Given the description of an element on the screen output the (x, y) to click on. 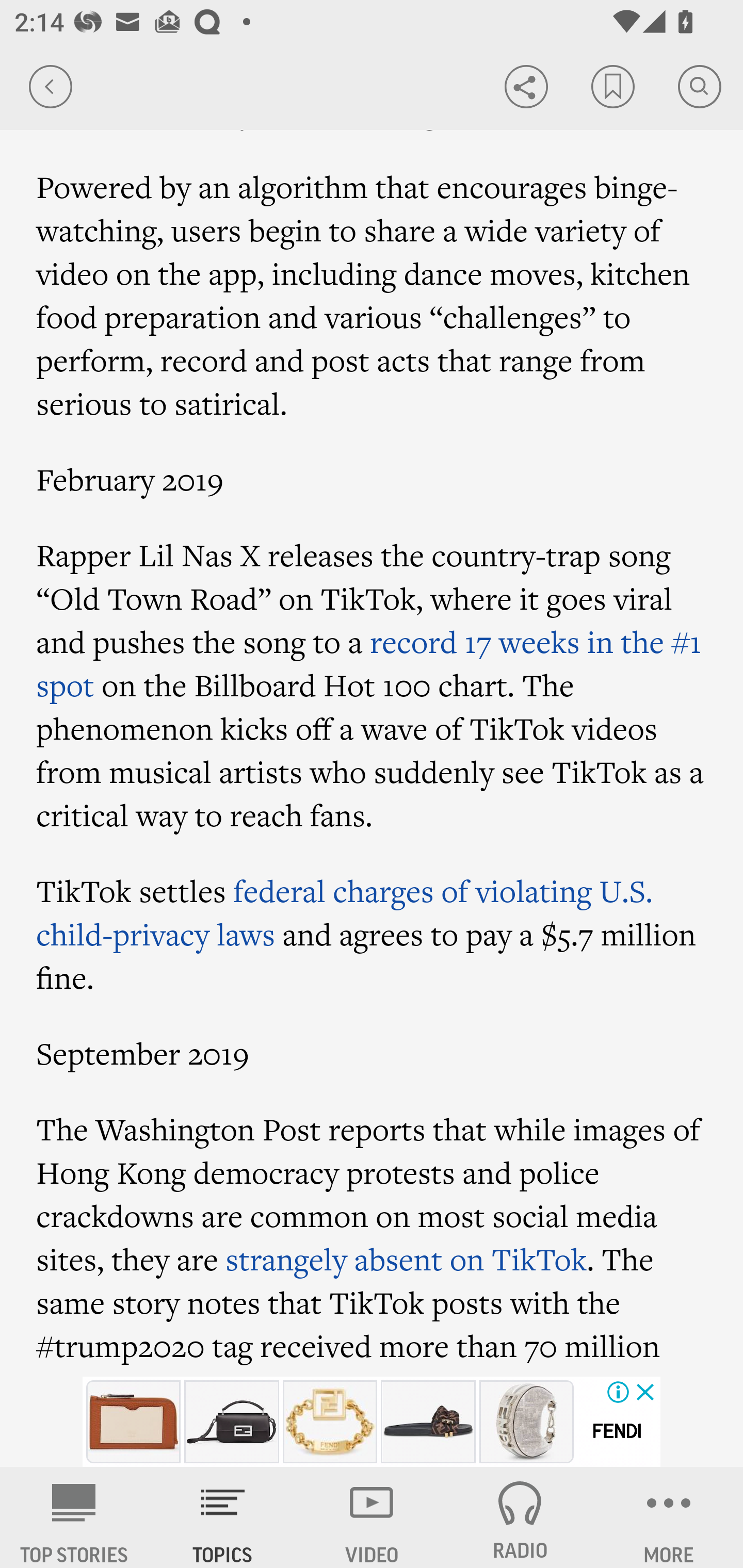
record 17 weeks in the #1 spot (369, 663)
strangely absent on TikTok (405, 1258)
fendi-feel-brown-satin-slides-8x8142ae7sf0r7v (428, 1420)
AP News TOP STORIES (74, 1517)
TOPICS (222, 1517)
VIDEO (371, 1517)
RADIO (519, 1517)
MORE (668, 1517)
